Given the description of an element on the screen output the (x, y) to click on. 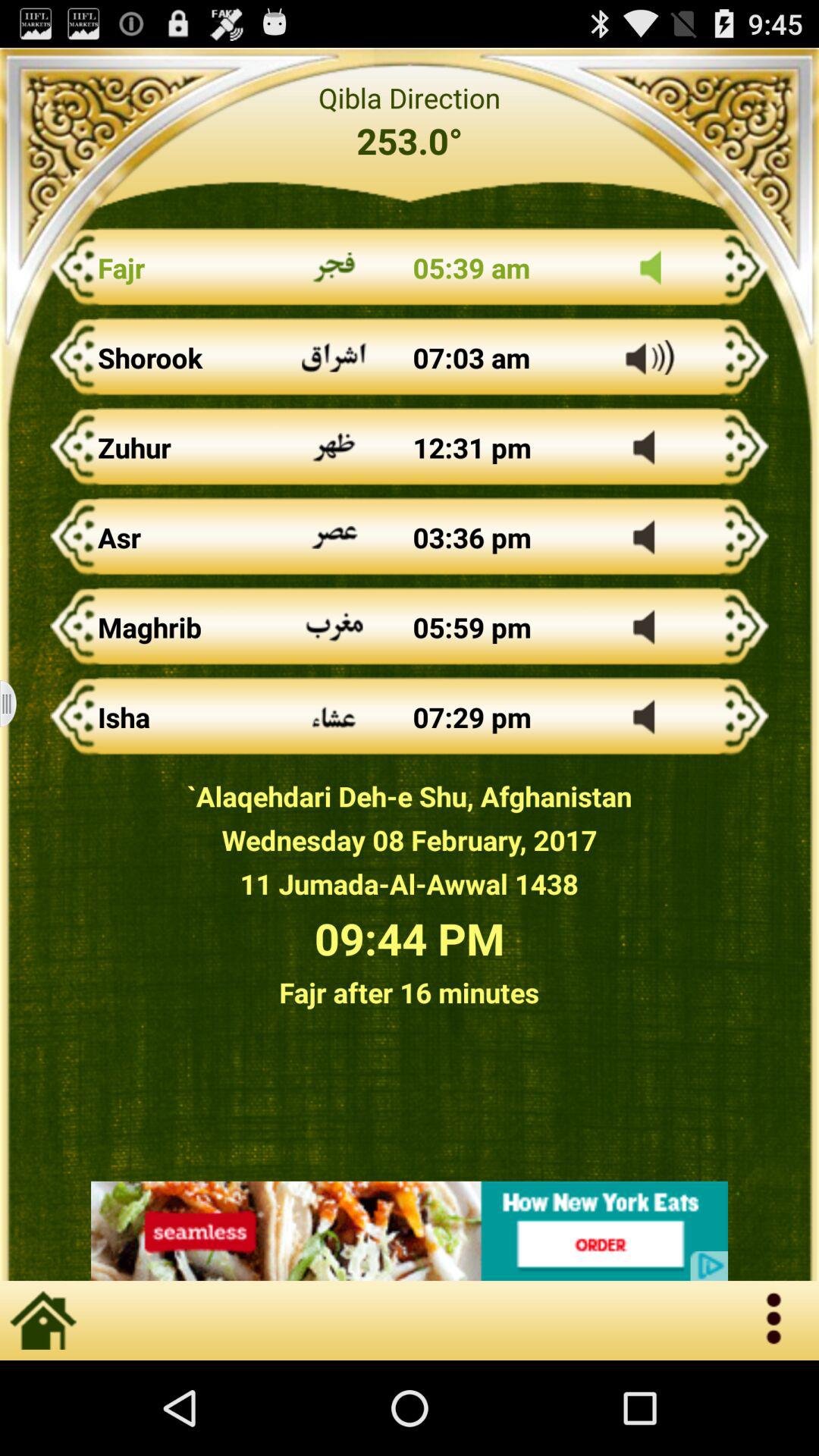
goto previous window (18, 703)
